Given the description of an element on the screen output the (x, y) to click on. 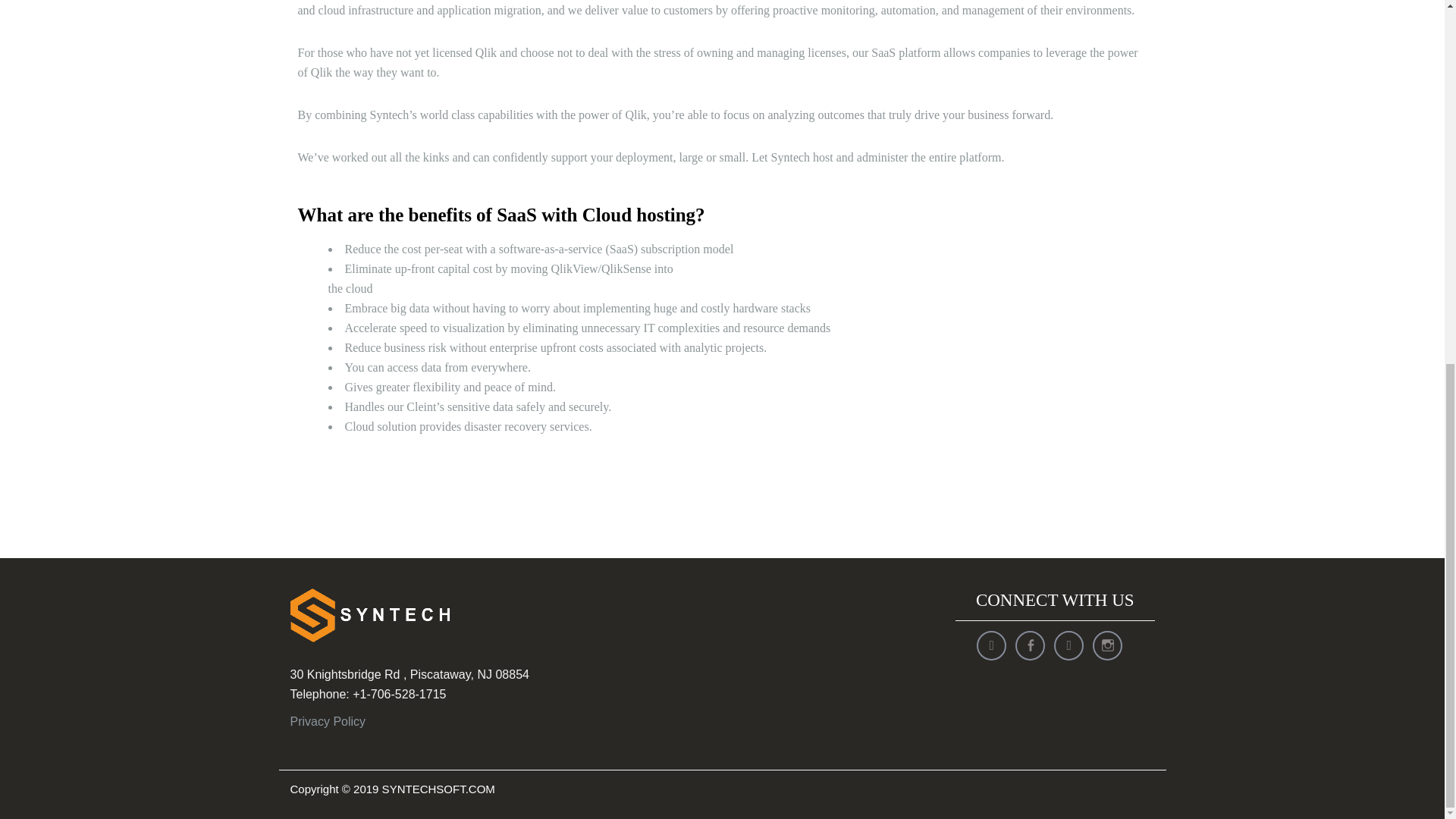
Privacy Policy (327, 721)
Syntech Soft Inc (368, 615)
